Given the description of an element on the screen output the (x, y) to click on. 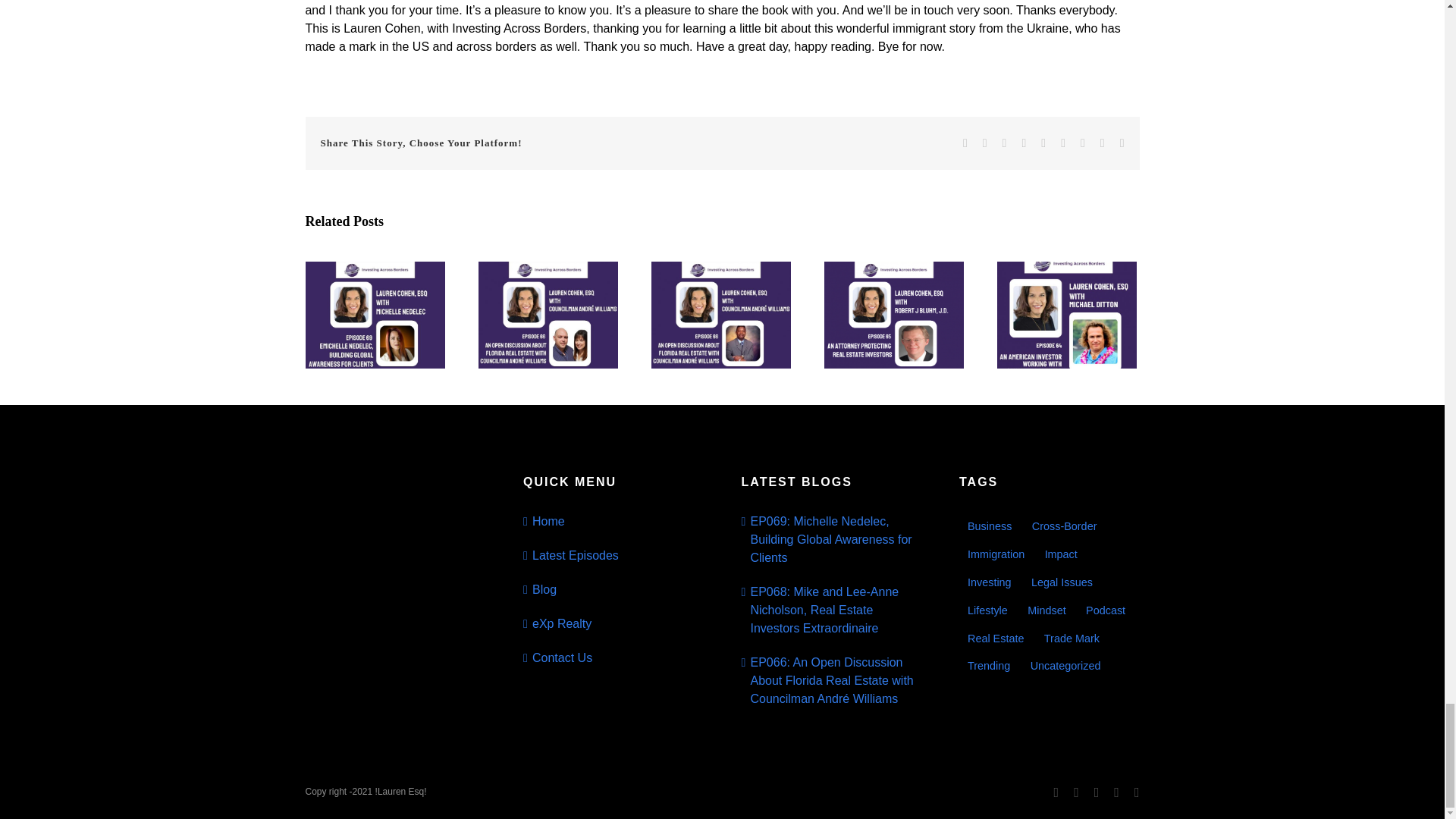
Pinterest (1082, 143)
Twitter (984, 143)
Tumblr (1063, 143)
Latest Episodes (613, 556)
WhatsApp (1043, 143)
Home (613, 521)
Reddit (1005, 143)
Blog (613, 589)
Email (1121, 143)
eXp Realty (613, 624)
Facebook (965, 143)
LinkedIn (1024, 143)
Vk (1102, 143)
